Given the description of an element on the screen output the (x, y) to click on. 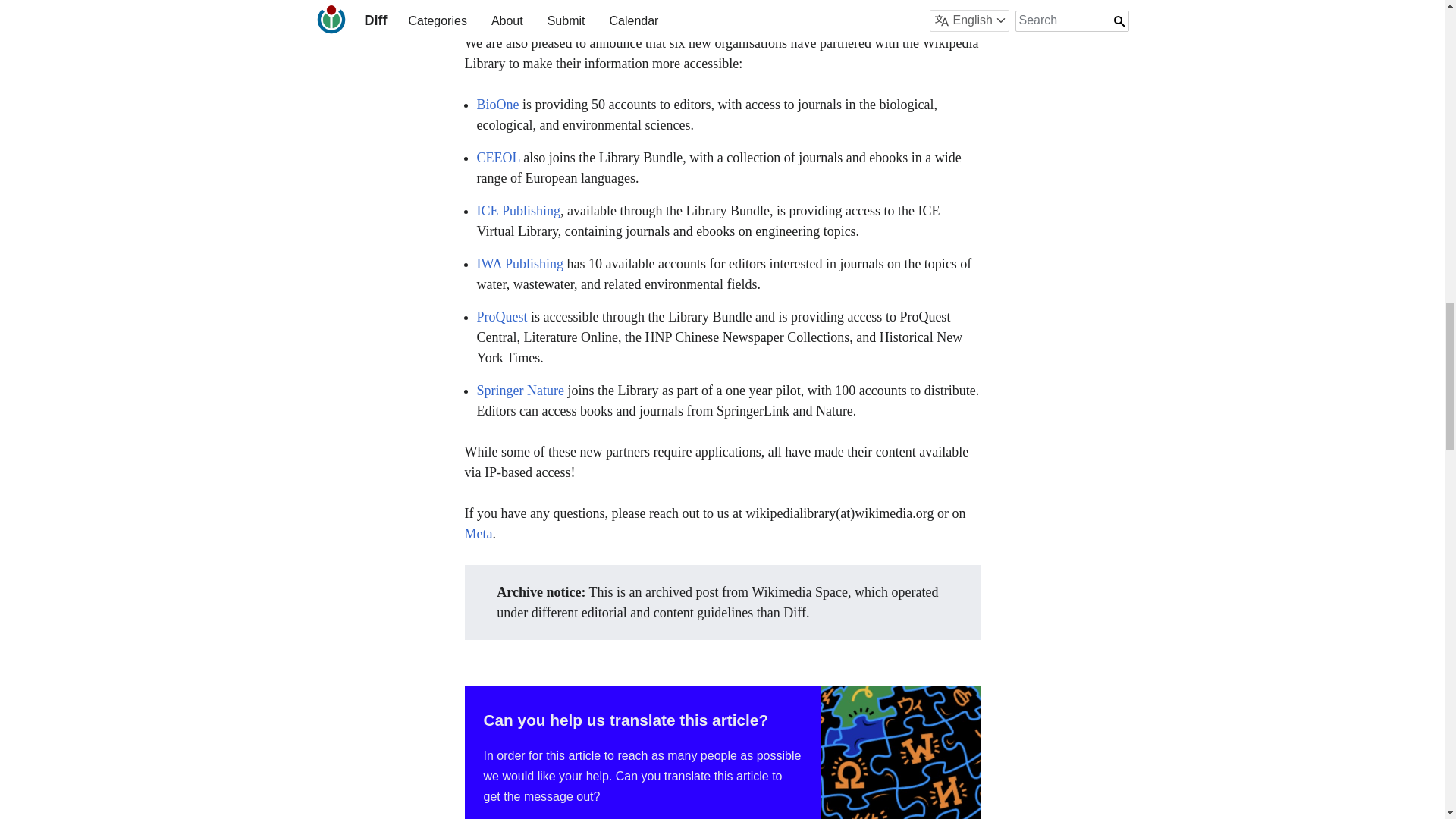
Meta (478, 533)
CEEOL (497, 157)
IWA Publishing (519, 263)
BioOne (497, 104)
ProQuest (501, 316)
Springer Nature (519, 390)
ICE Publishing (518, 210)
